Given the description of an element on the screen output the (x, y) to click on. 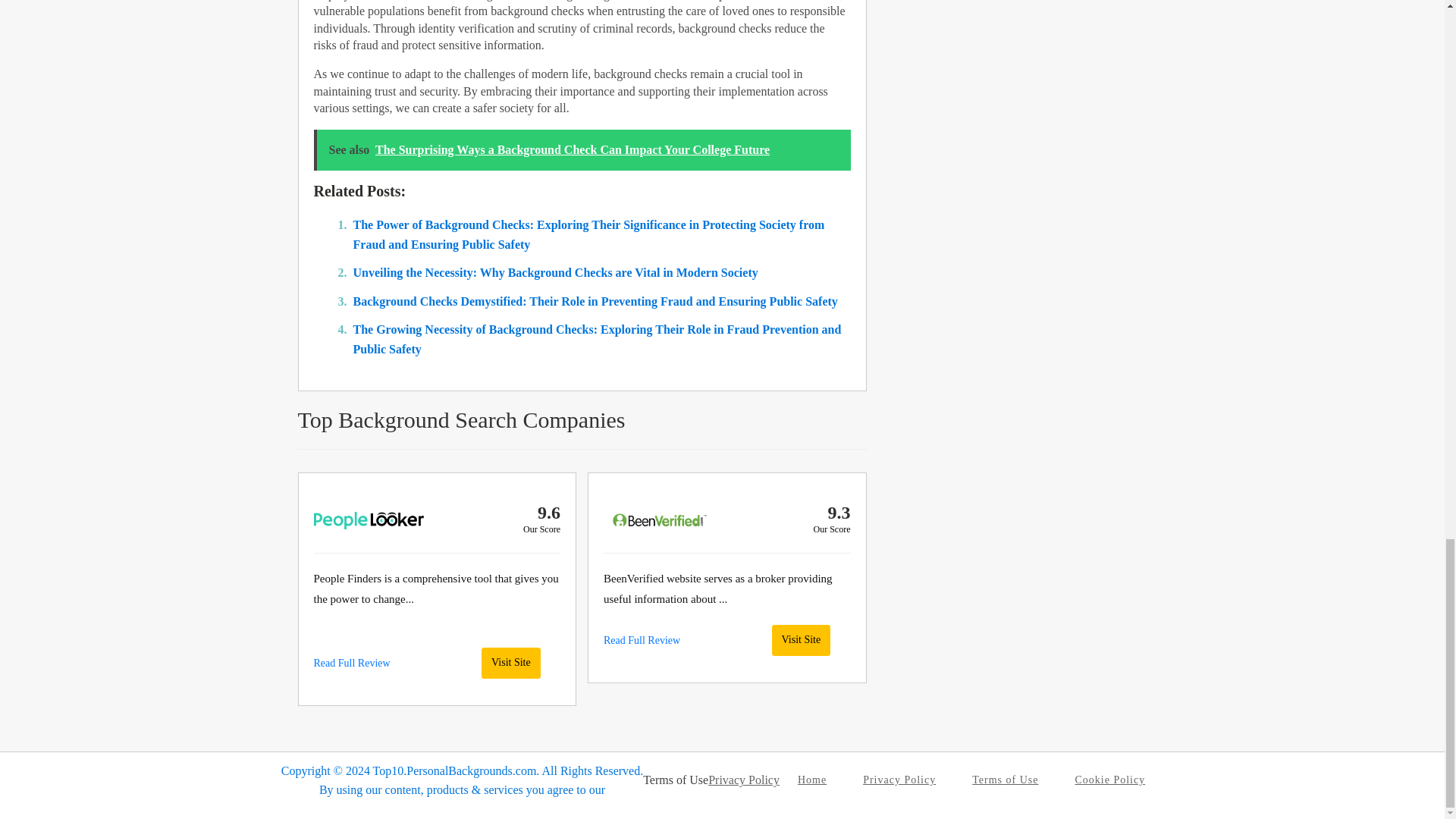
Visit Site (801, 639)
Visit Site (510, 662)
Read Full Review (352, 662)
Read Full Review (641, 640)
